Given the description of an element on the screen output the (x, y) to click on. 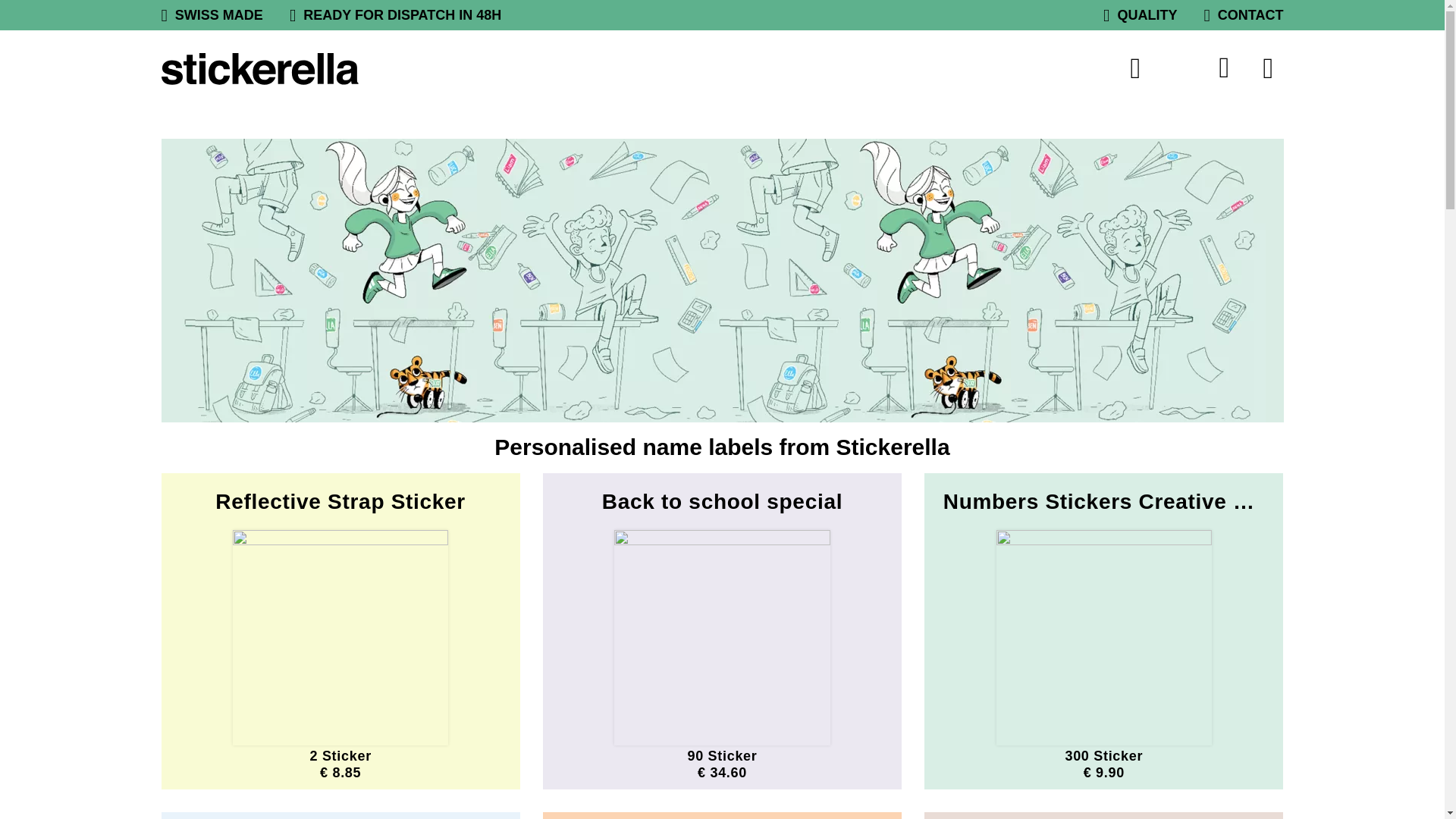
Stickerella (259, 69)
